Given the description of an element on the screen output the (x, y) to click on. 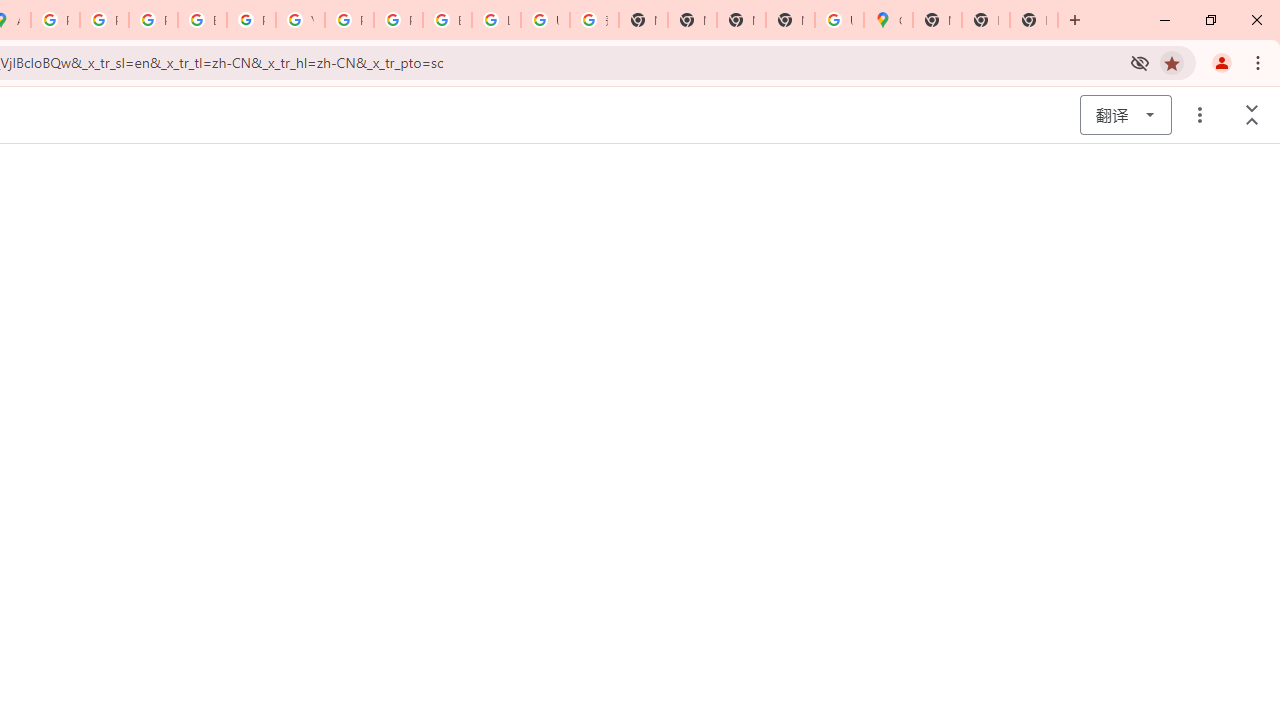
Privacy Help Center - Policies Help (153, 20)
YouTube (300, 20)
Third-party cookies blocked (1139, 62)
New Tab (985, 20)
